Given the description of an element on the screen output the (x, y) to click on. 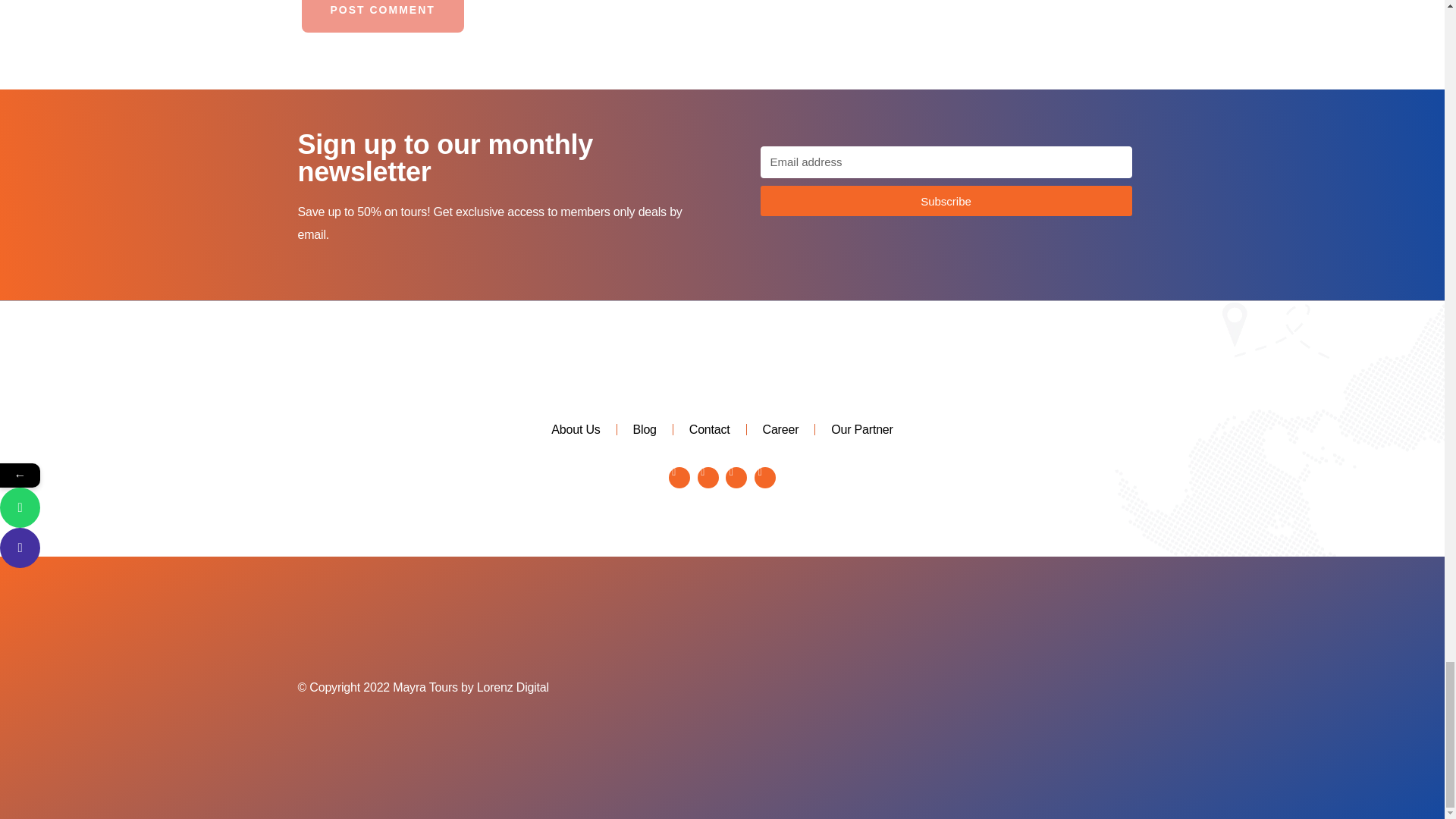
Post Comment (382, 16)
